Given the description of an element on the screen output the (x, y) to click on. 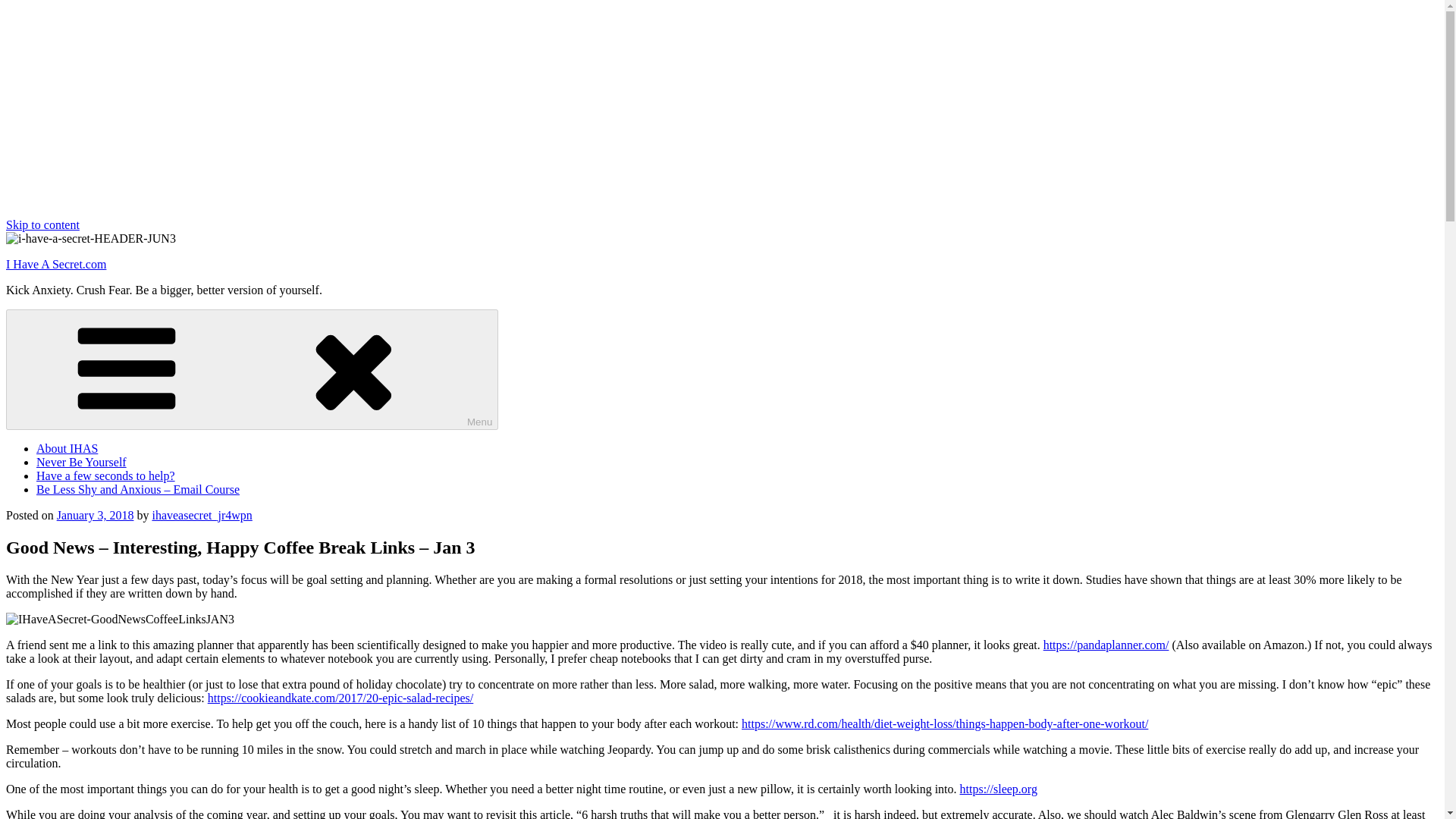
January 3, 2018 (94, 514)
I Have A Secret.com (55, 264)
Have a few seconds to help? (105, 475)
Skip to content (42, 224)
About IHAS (66, 448)
Never Be Yourself (81, 461)
Menu (251, 369)
